Given the description of an element on the screen output the (x, y) to click on. 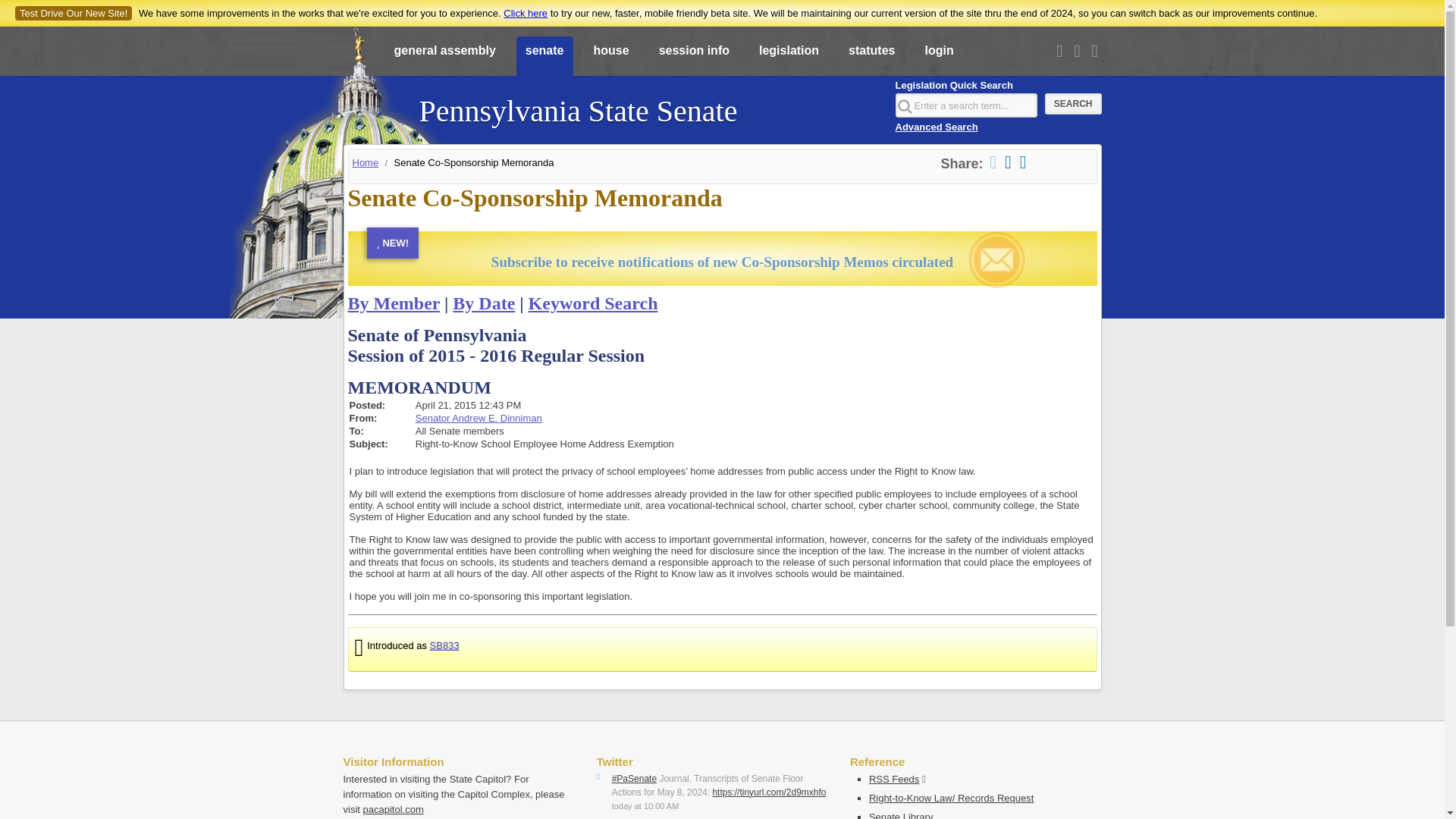
general assembly (445, 57)
login (938, 57)
Click here (525, 12)
senate (544, 57)
house (610, 57)
legislation (788, 57)
Advanced Search (935, 126)
Pennsylvania State Senate (577, 102)
statutes (872, 57)
session info (693, 57)
